Given the description of an element on the screen output the (x, y) to click on. 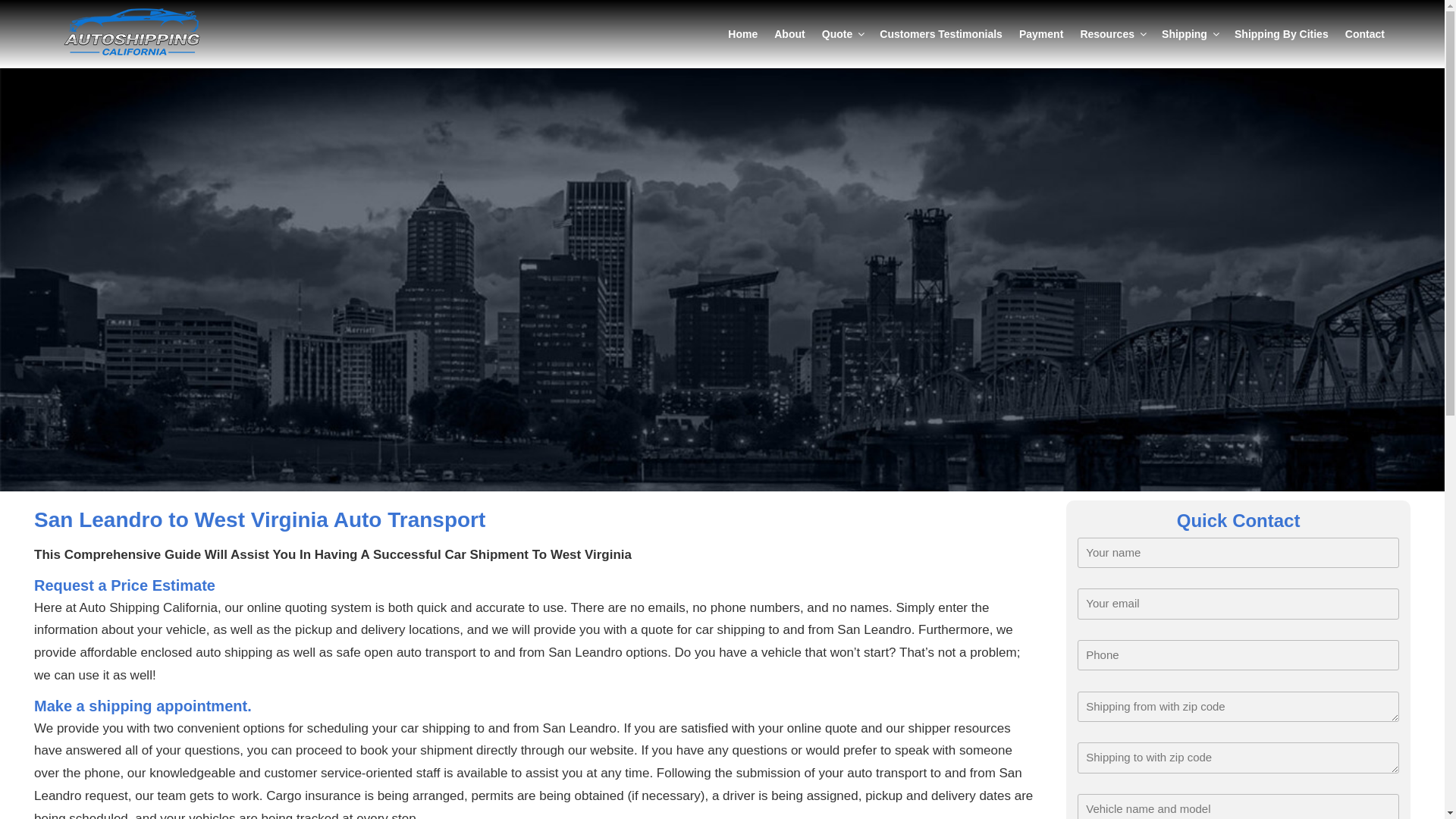
Resources (1112, 33)
AUTOSHIPPING CALIFORNIA (102, 7)
Shipping By Cities (1281, 33)
Customers Testimonials (940, 33)
Shipping (1189, 33)
